Given the description of an element on the screen output the (x, y) to click on. 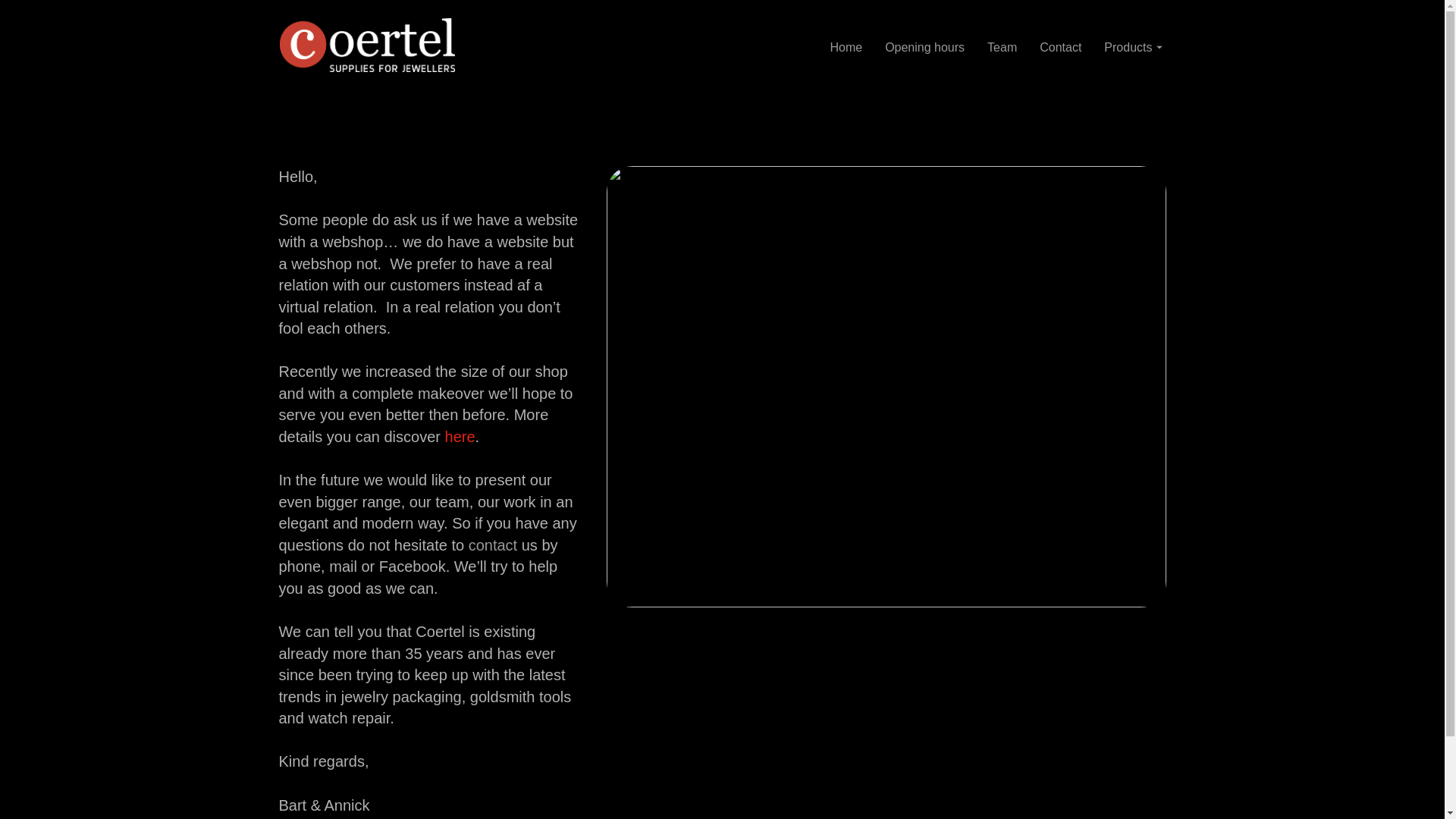
contact Element type: text (492, 544)
here Element type: text (460, 436)
Products Element type: text (1132, 47)
Home Element type: text (845, 46)
Opening hours Element type: text (924, 46)
Team Element type: text (1001, 46)
Contact Element type: text (1060, 46)
